Given the description of an element on the screen output the (x, y) to click on. 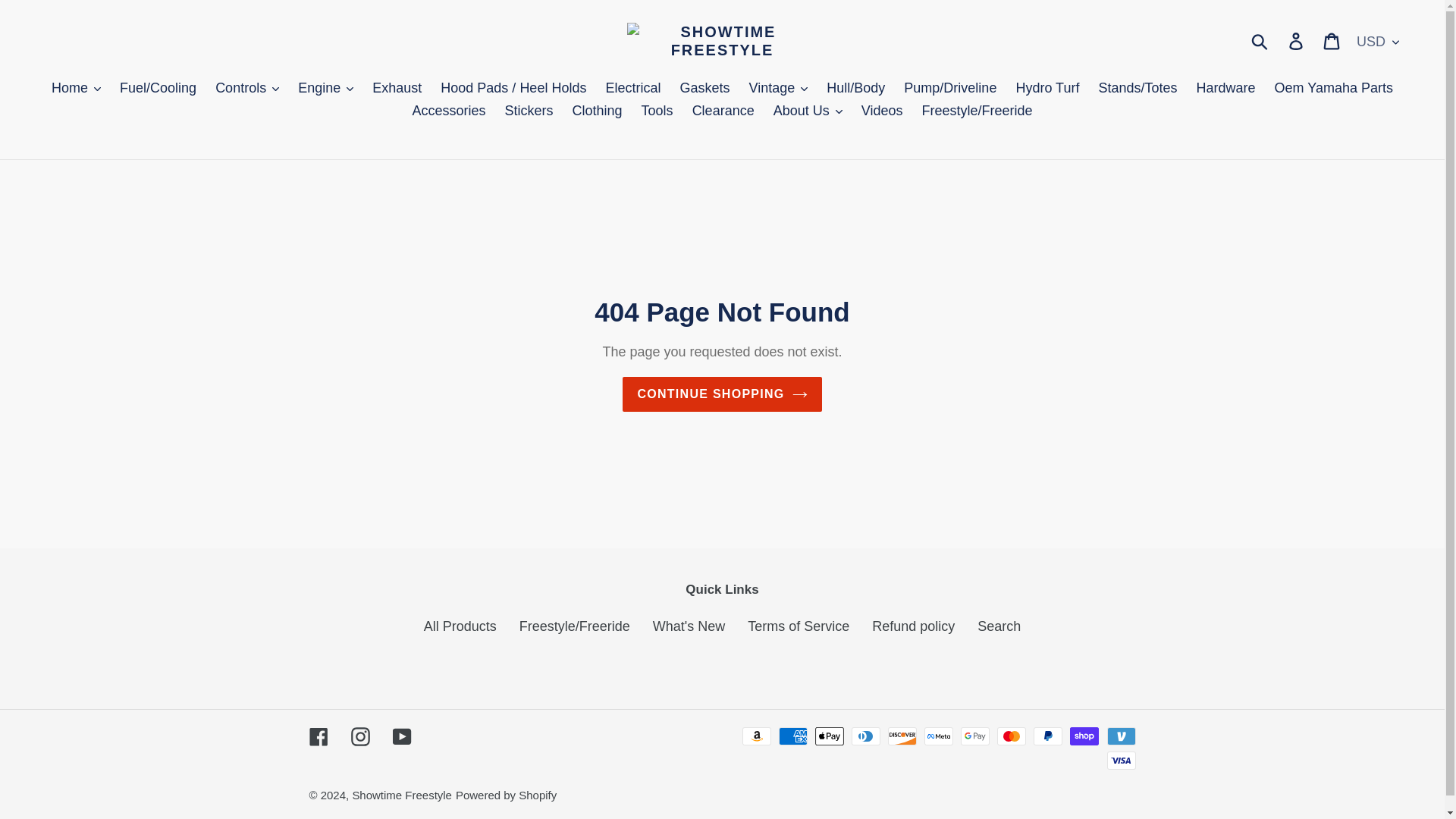
Log in (1296, 40)
Cart (1332, 40)
Submit (1260, 40)
